Given the description of an element on the screen output the (x, y) to click on. 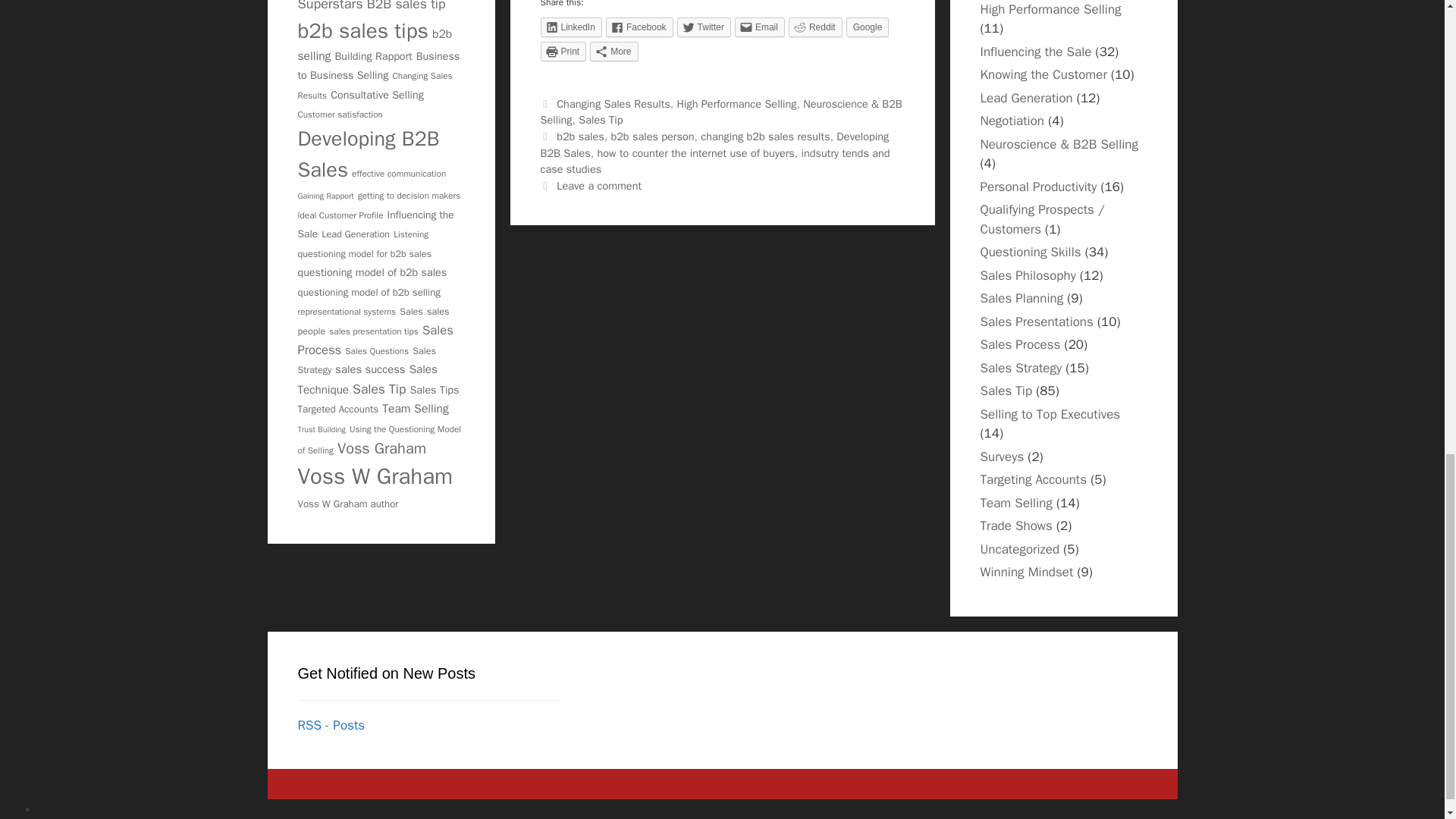
High Performance Selling (736, 103)
Email (759, 26)
Click to email this to a friend (759, 26)
Print (563, 51)
Click to share on Reddit (816, 26)
Leave a comment (599, 185)
LinkedIn (570, 26)
Sales Tip (600, 119)
Changing Sales Results (612, 103)
changing b2b sales results (764, 136)
